Given the description of an element on the screen output the (x, y) to click on. 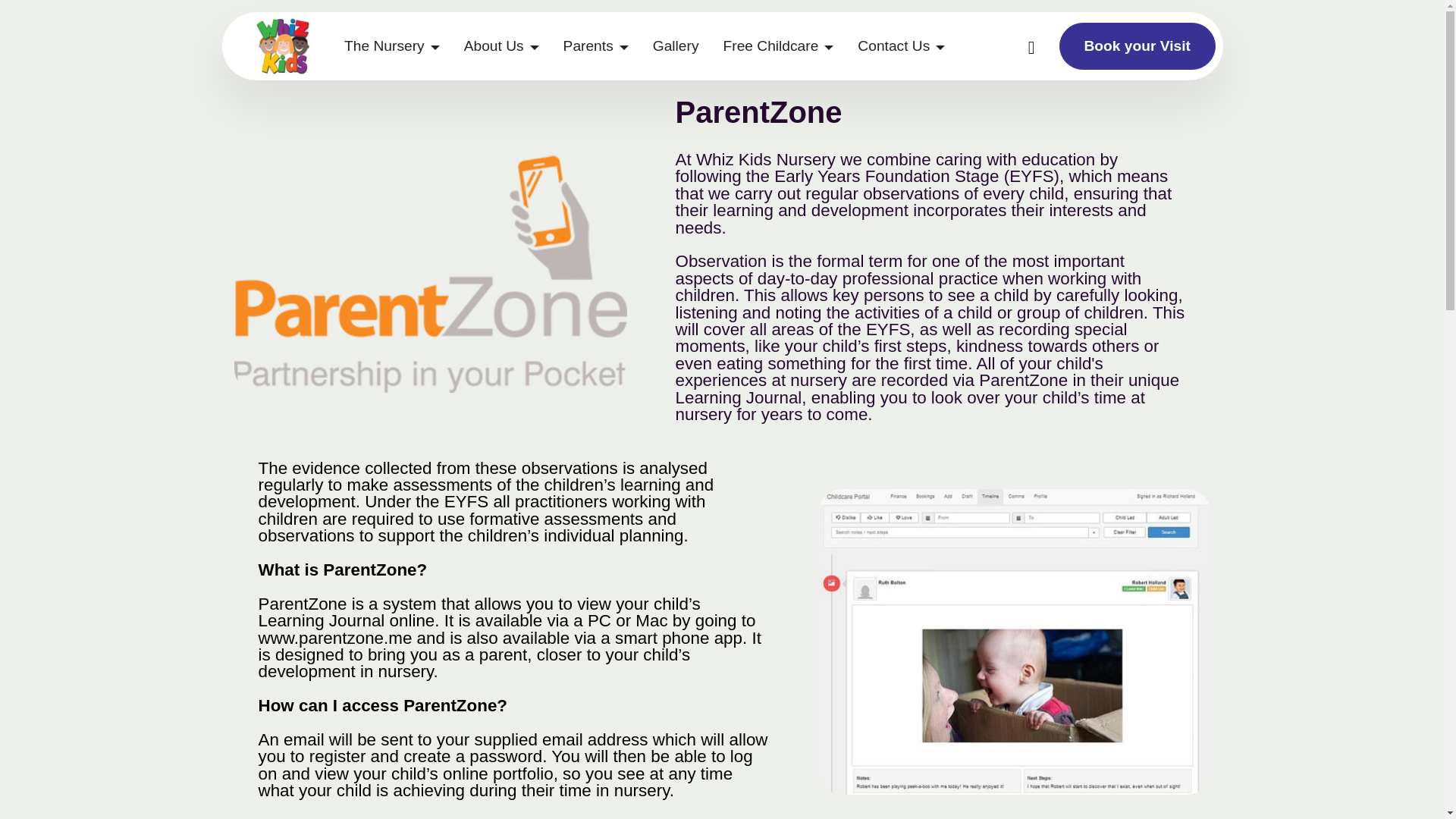
About Us (501, 45)
The Nursery (391, 45)
Book your Visit (1137, 45)
Parents (595, 45)
Free Childcare (778, 45)
Contact Us (900, 45)
Gallery (675, 45)
